Given the description of an element on the screen output the (x, y) to click on. 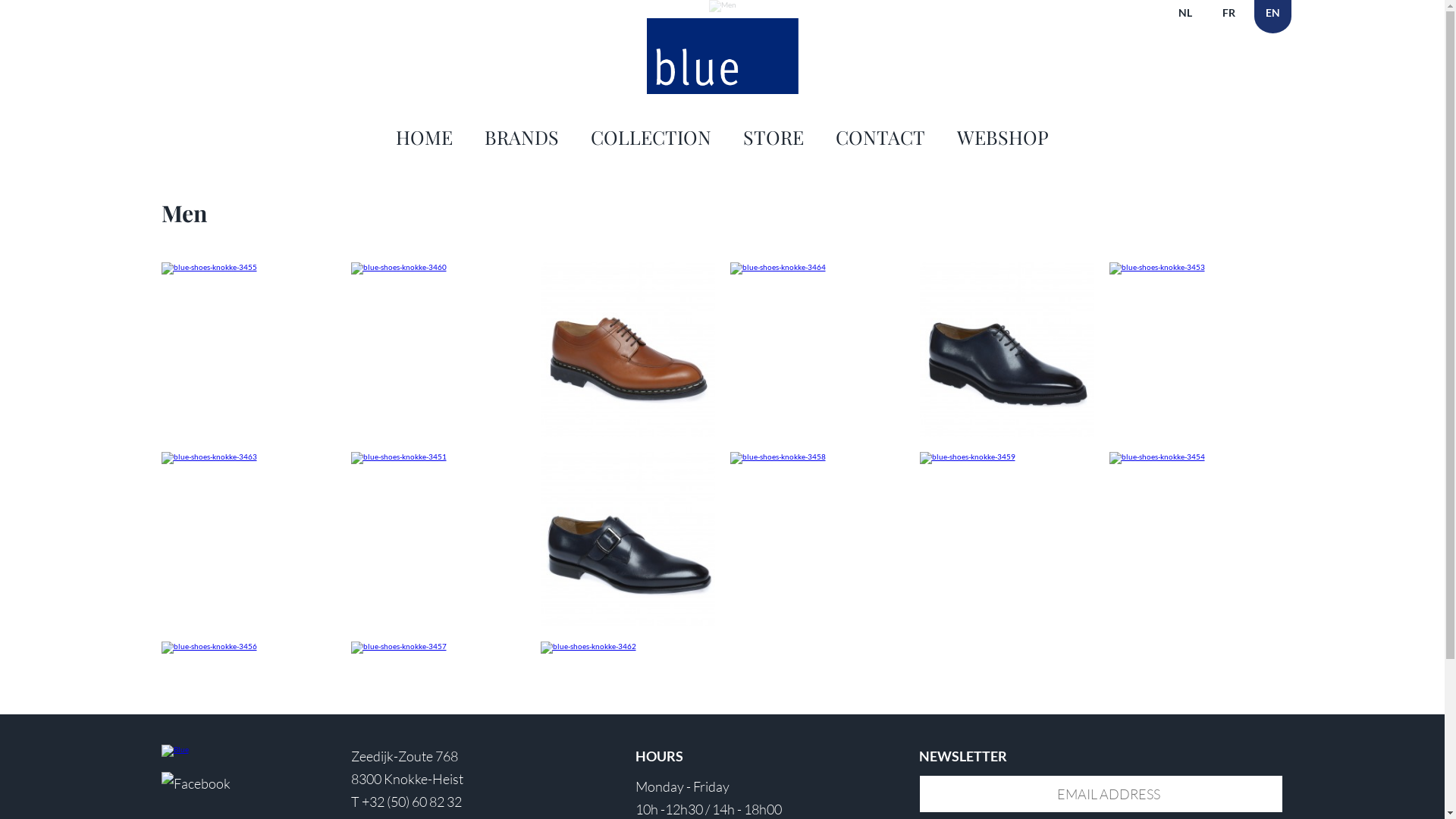
NL Element type: text (1184, 16)
blue-shoes-knokke-3453 Element type: hover (1195, 268)
STORE Element type: text (773, 137)
blue-shoes-knokke-3459 Element type: hover (1006, 457)
blue-shoes-knokke-3462 Element type: hover (626, 647)
WEBSHOP Element type: text (1002, 137)
blue-shoes-knokke-3461 Element type: hover (626, 349)
CONTACT Element type: text (880, 137)
HOME Element type: text (423, 137)
blue-shoes-knokke-3460 Element type: hover (437, 268)
Blue Element type: hover (721, 56)
BRANDS Element type: text (521, 137)
blue-shoes-knokke-3450 Element type: hover (1006, 349)
blue-shoes-knokke-3456 Element type: hover (247, 647)
blue-shoes-knokke-3454 Element type: hover (1195, 457)
blue-shoes-knokke-3463 Element type: hover (247, 457)
Facebook Element type: hover (194, 782)
blue-shoes-knokke-3458 Element type: hover (816, 457)
blue-shoes-knokke-3457 Element type: hover (437, 647)
Blue Element type: hover (203, 750)
blue-shoes-knokke-3455 Element type: hover (247, 268)
blue-shoes-knokke-3451 Element type: hover (437, 457)
COLLECTION Element type: text (650, 137)
blue-shoes-knokke-3464 Element type: hover (816, 268)
FR Element type: text (1227, 16)
blue-shoes-knokke-3452 Element type: hover (626, 538)
